Given the description of an element on the screen output the (x, y) to click on. 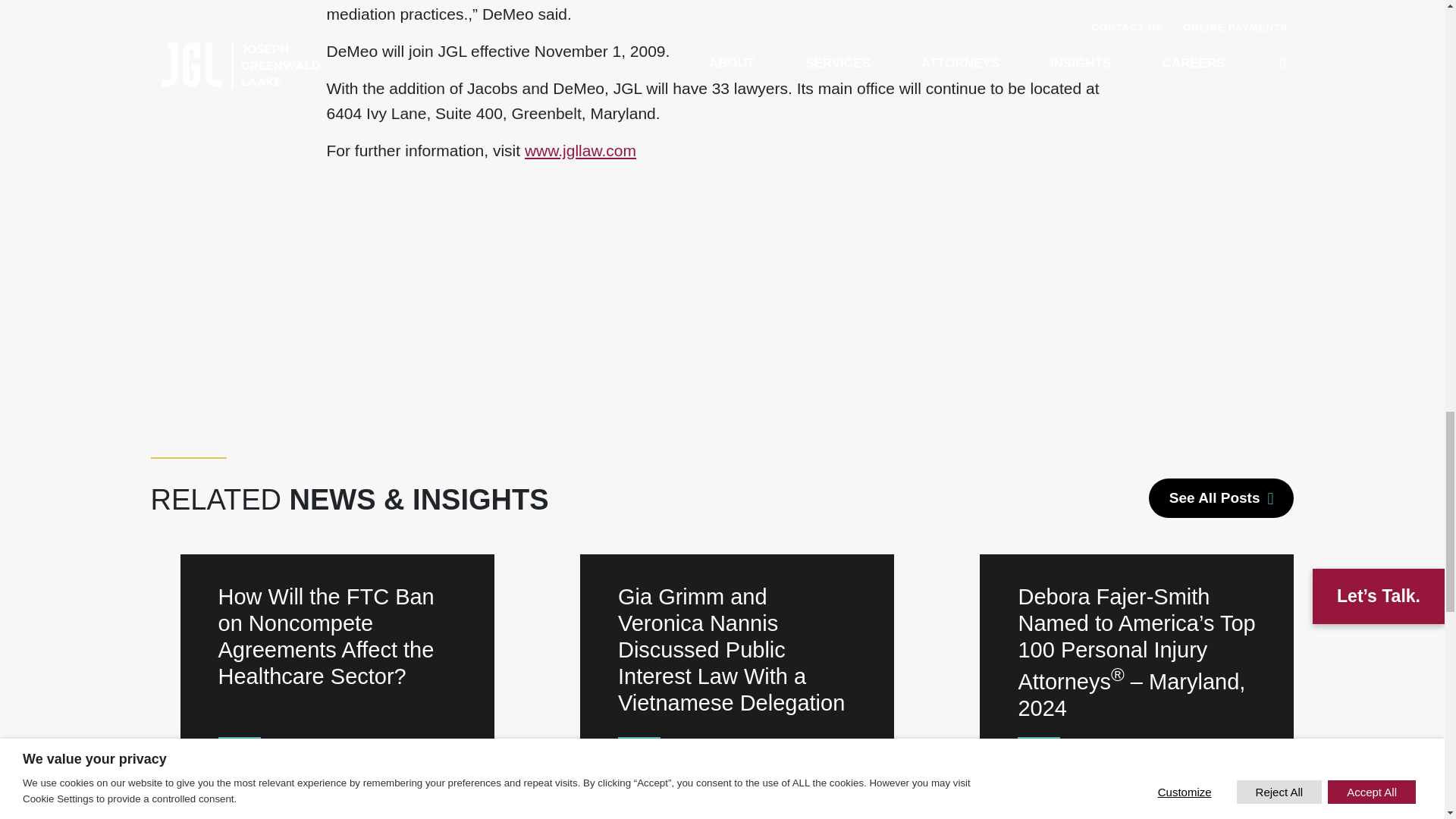
www.jgllaw.com (580, 149)
